Given the description of an element on the screen output the (x, y) to click on. 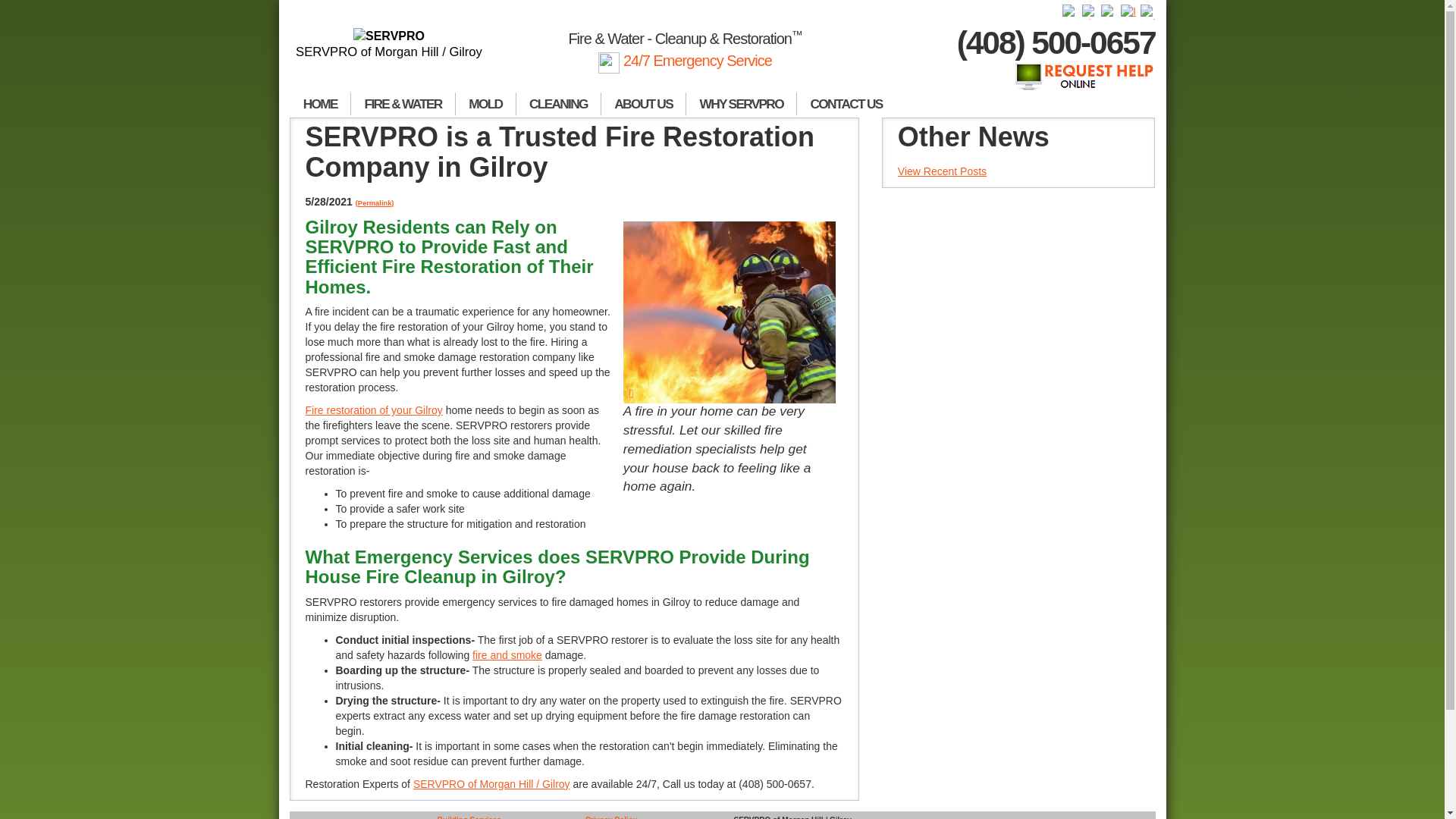
ABOUT US (643, 104)
HOME (319, 104)
CLEANING (558, 104)
MOLD (485, 104)
